Given the description of an element on the screen output the (x, y) to click on. 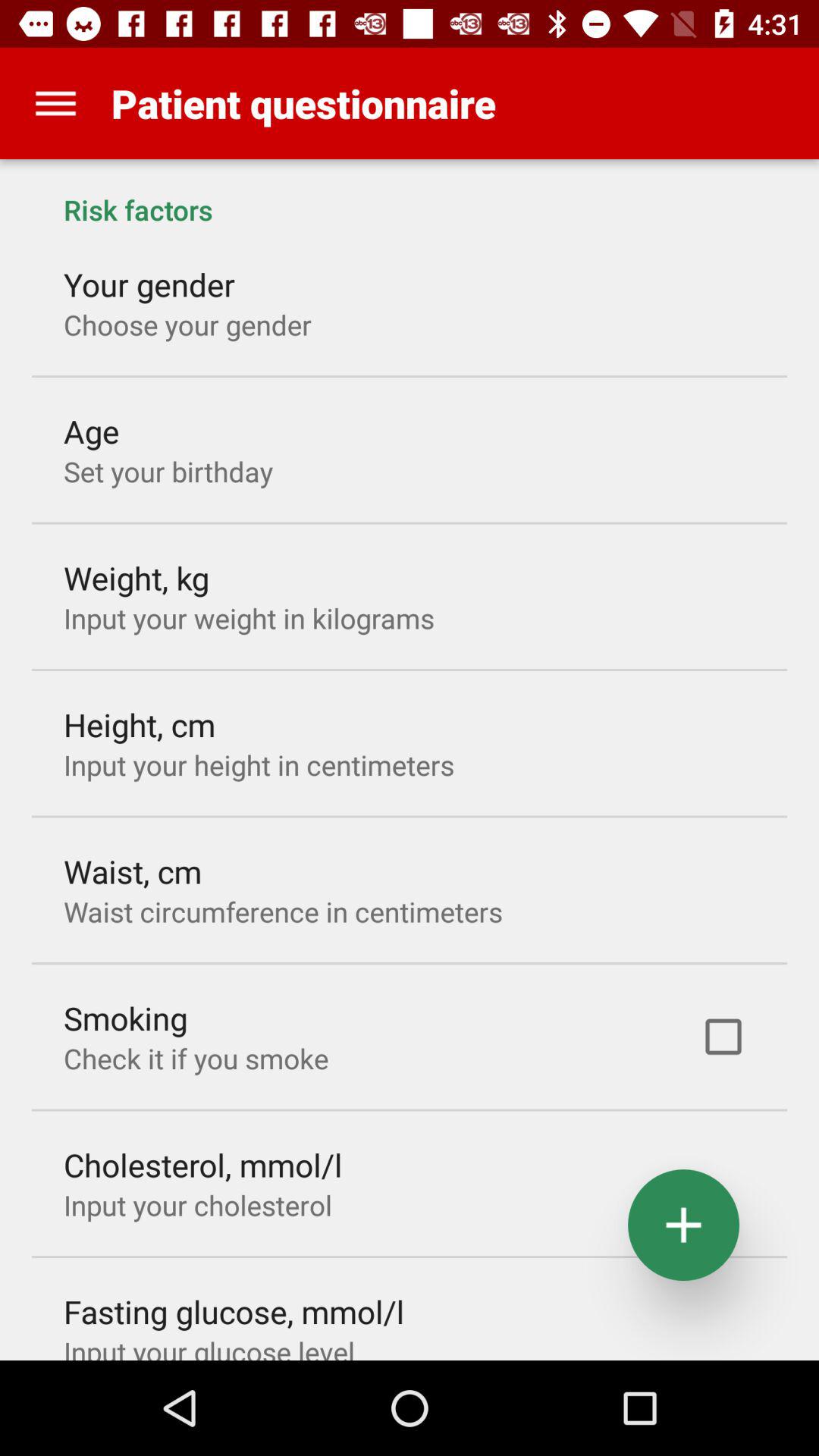
flip to the set your birthday app (168, 471)
